Given the description of an element on the screen output the (x, y) to click on. 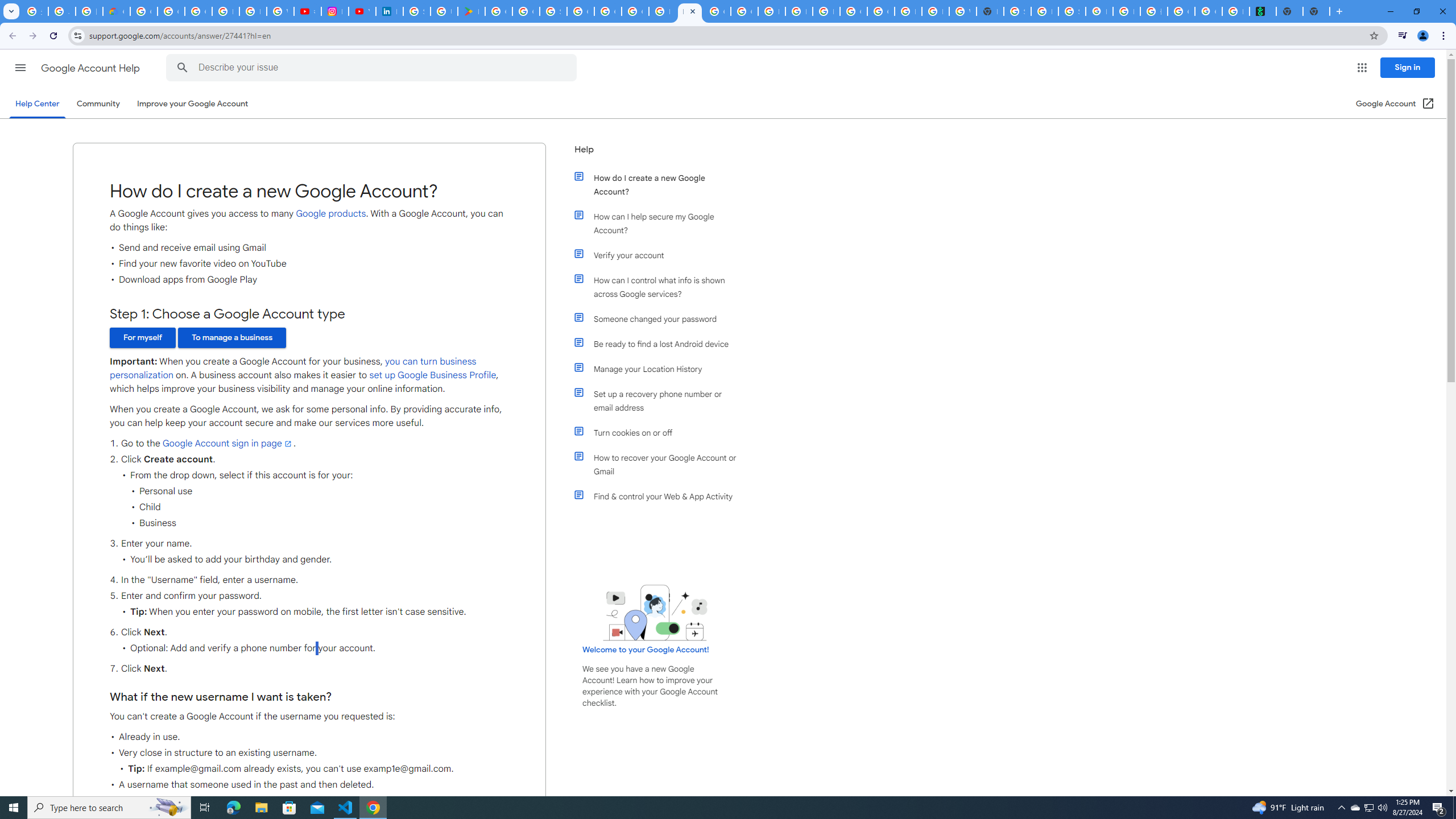
Turn cookies on or off (661, 432)
Help Center (36, 103)
Google Cloud Platform (853, 11)
Community (97, 103)
Improve your Google Account (192, 103)
YouTube Culture & Trends - On The Rise: Handcam Videos (362, 11)
Help (656, 153)
